Given the description of an element on the screen output the (x, y) to click on. 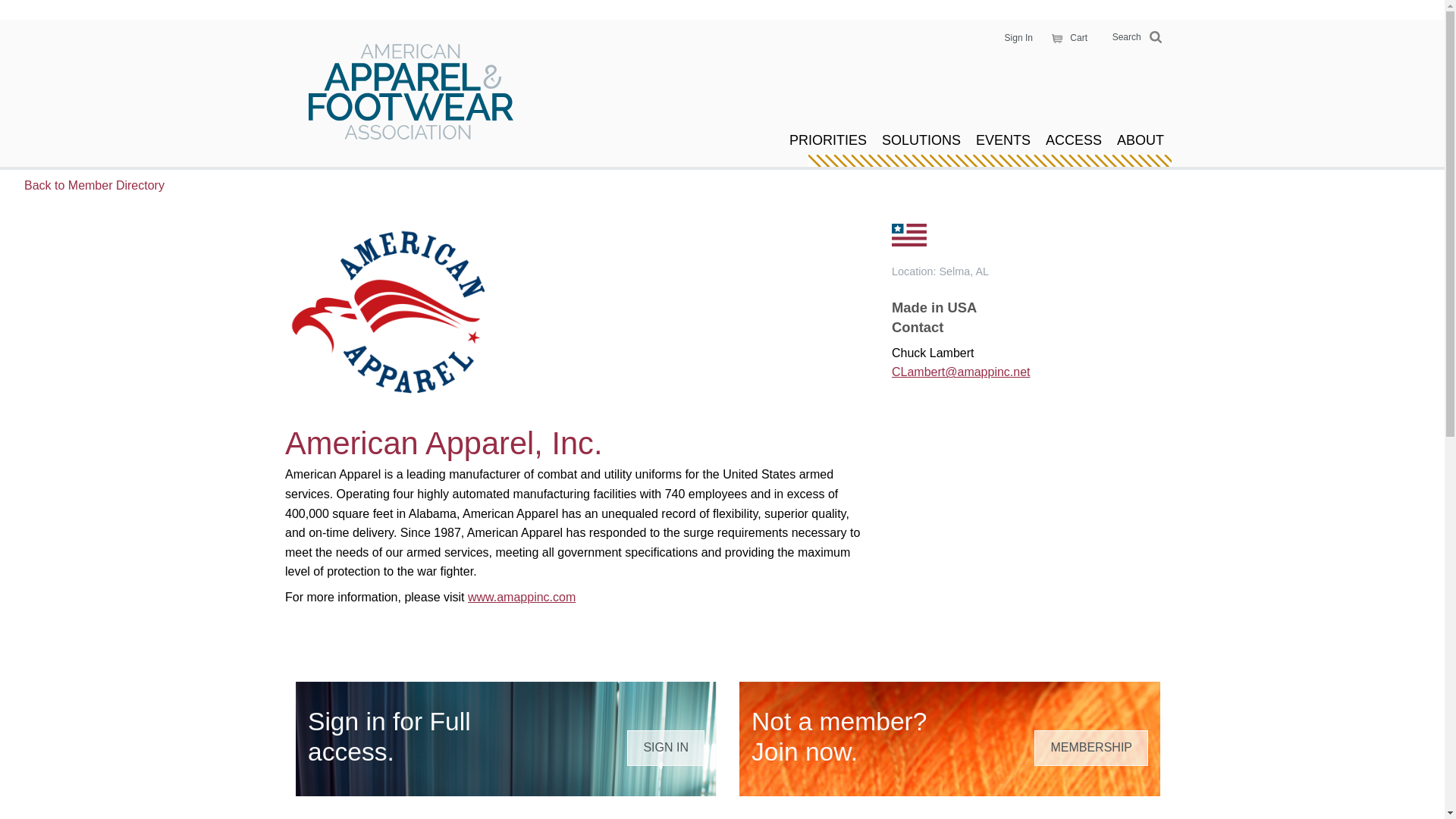
Search (1133, 37)
Home (410, 93)
Search (1133, 37)
EVENTS (1003, 140)
Cart (1065, 37)
American Apparel, Inc. (443, 443)
SOLUTIONS (921, 140)
ABOUT (1140, 140)
AAFA (410, 93)
Sign In (1018, 36)
Back to Member Directory (552, 185)
MEMBERSHIP (1090, 747)
www.amappinc.com (521, 596)
SIGN IN (665, 747)
ACCESS (1073, 140)
